Given the description of an element on the screen output the (x, y) to click on. 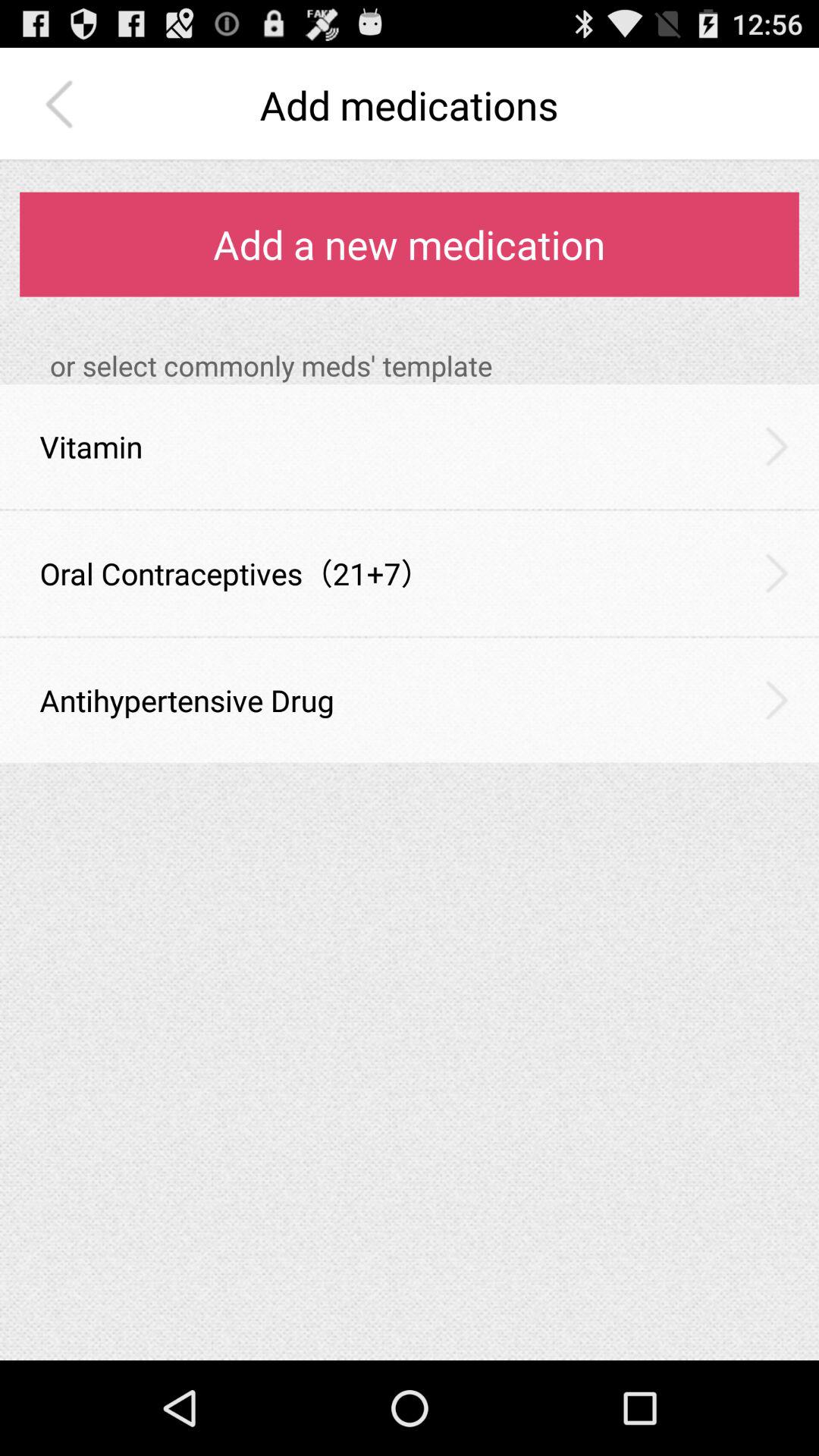
flip until the oral contraceptives 21 icon (235, 573)
